Given the description of an element on the screen output the (x, y) to click on. 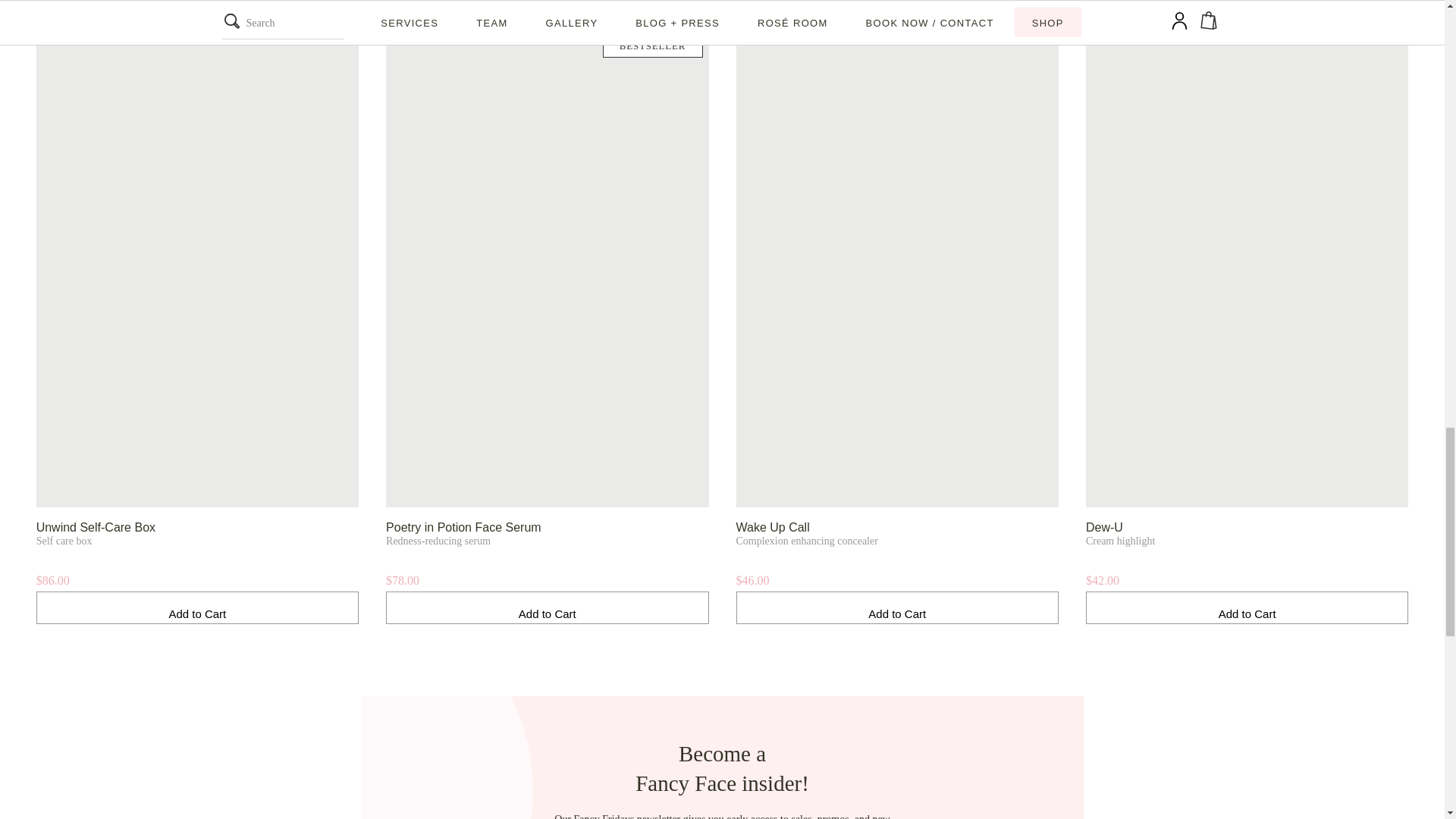
Add to Cart (896, 607)
Add to Cart (197, 607)
Add to Cart (1246, 607)
Add to Cart (546, 607)
